Given the description of an element on the screen output the (x, y) to click on. 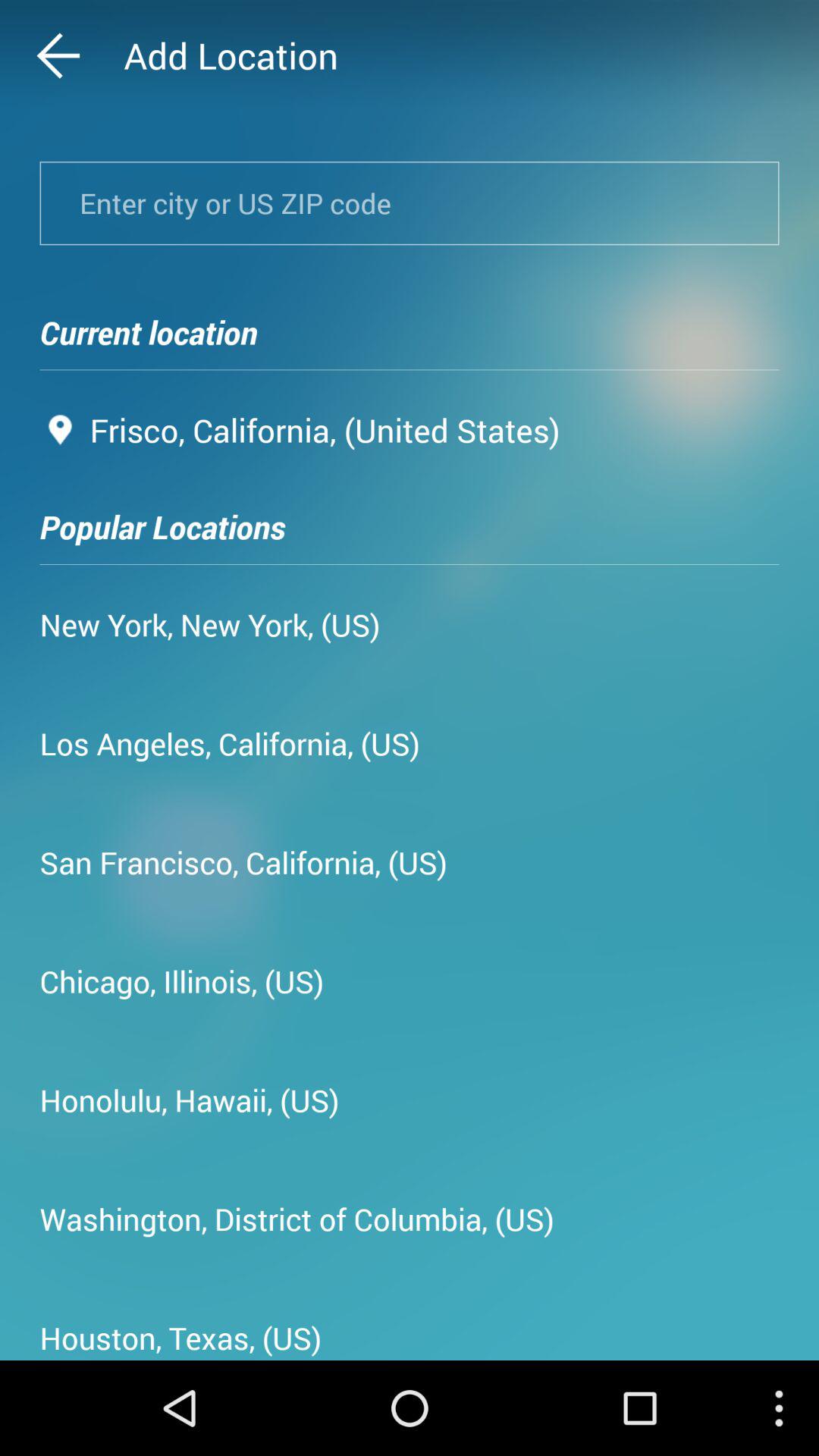
swipe until the washington district of (297, 1218)
